Given the description of an element on the screen output the (x, y) to click on. 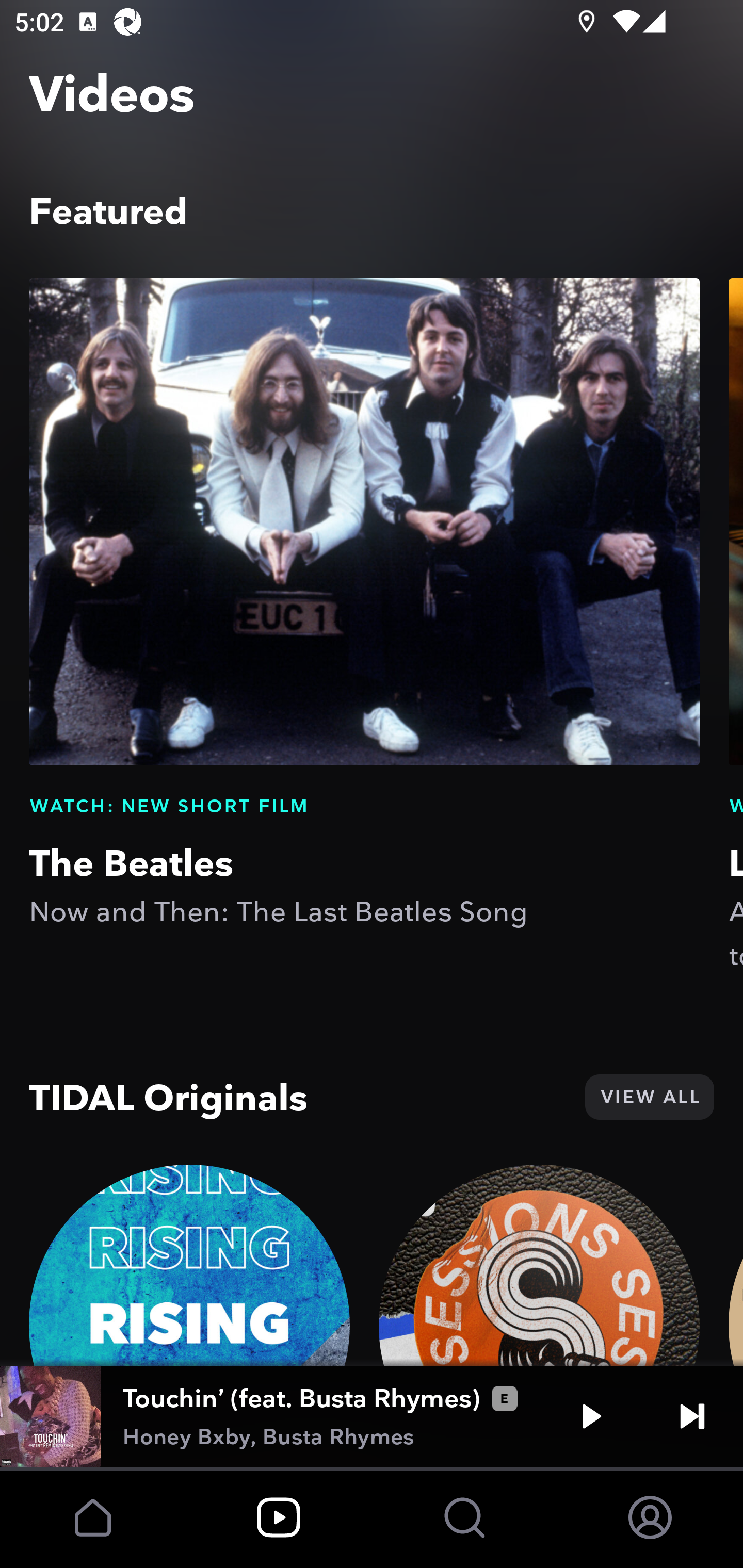
VIEW ALL (649, 1096)
Play (590, 1416)
